Given the description of an element on the screen output the (x, y) to click on. 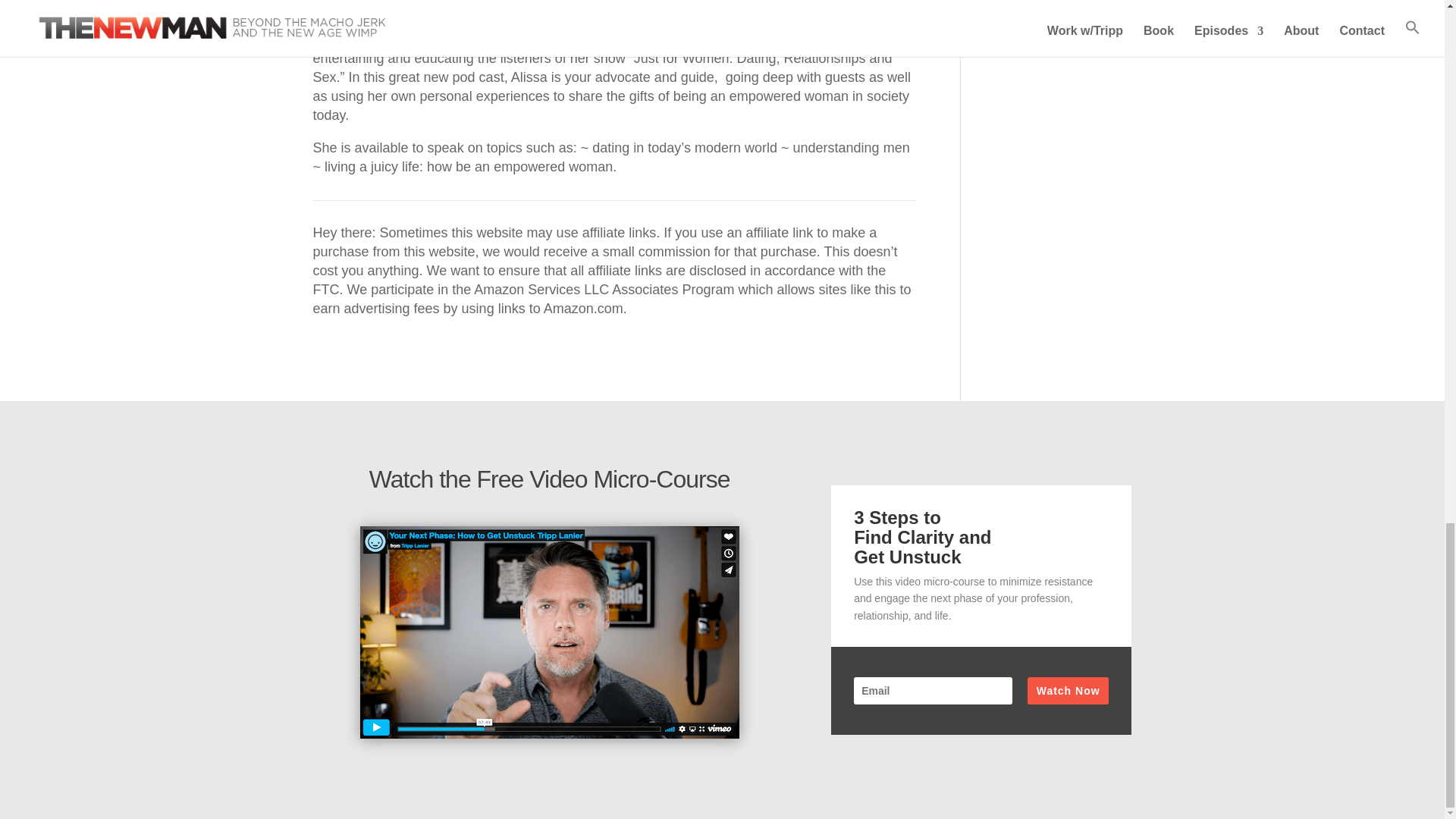
unstuck-image-3 (549, 632)
